Given the description of an element on the screen output the (x, y) to click on. 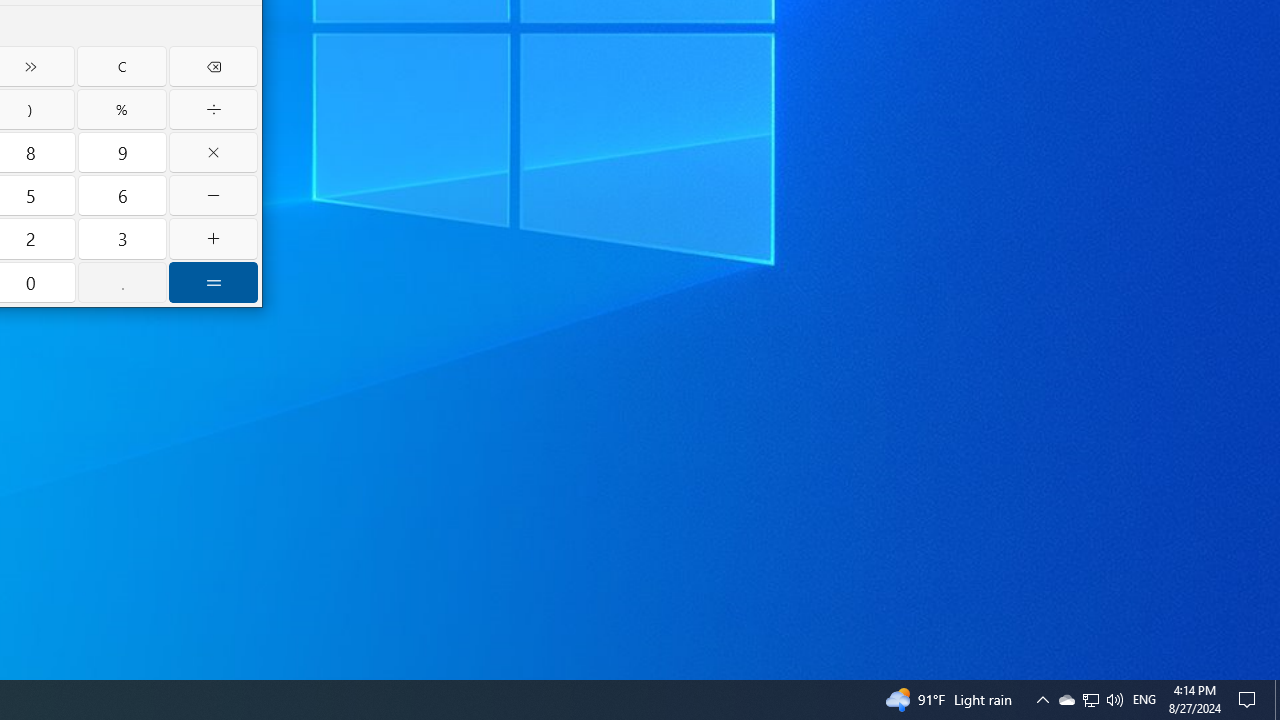
Modulo (121, 109)
Divide by (213, 109)
Nine (122, 151)
Plus (213, 238)
Decimal separator (122, 282)
Equals (213, 282)
Backspace (213, 66)
